Given the description of an element on the screen output the (x, y) to click on. 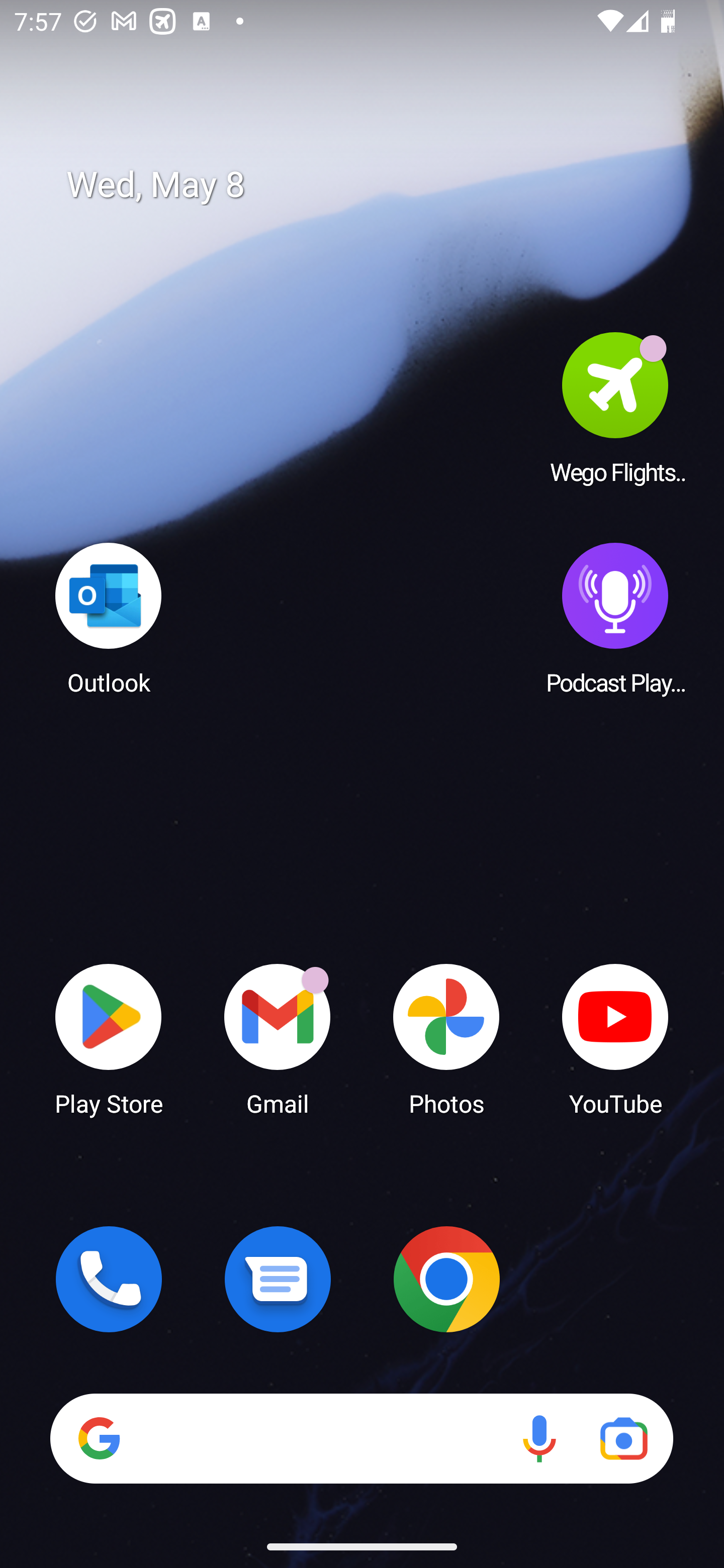
Wed, May 8 (375, 184)
Outlook (108, 617)
Podcast Player (615, 617)
Play Store (108, 1038)
Gmail Gmail has 17 notifications (277, 1038)
Photos (445, 1038)
YouTube (615, 1038)
Phone (108, 1279)
Messages (277, 1279)
Chrome (446, 1279)
Voice search (539, 1438)
Google Lens (623, 1438)
